Given the description of an element on the screen output the (x, y) to click on. 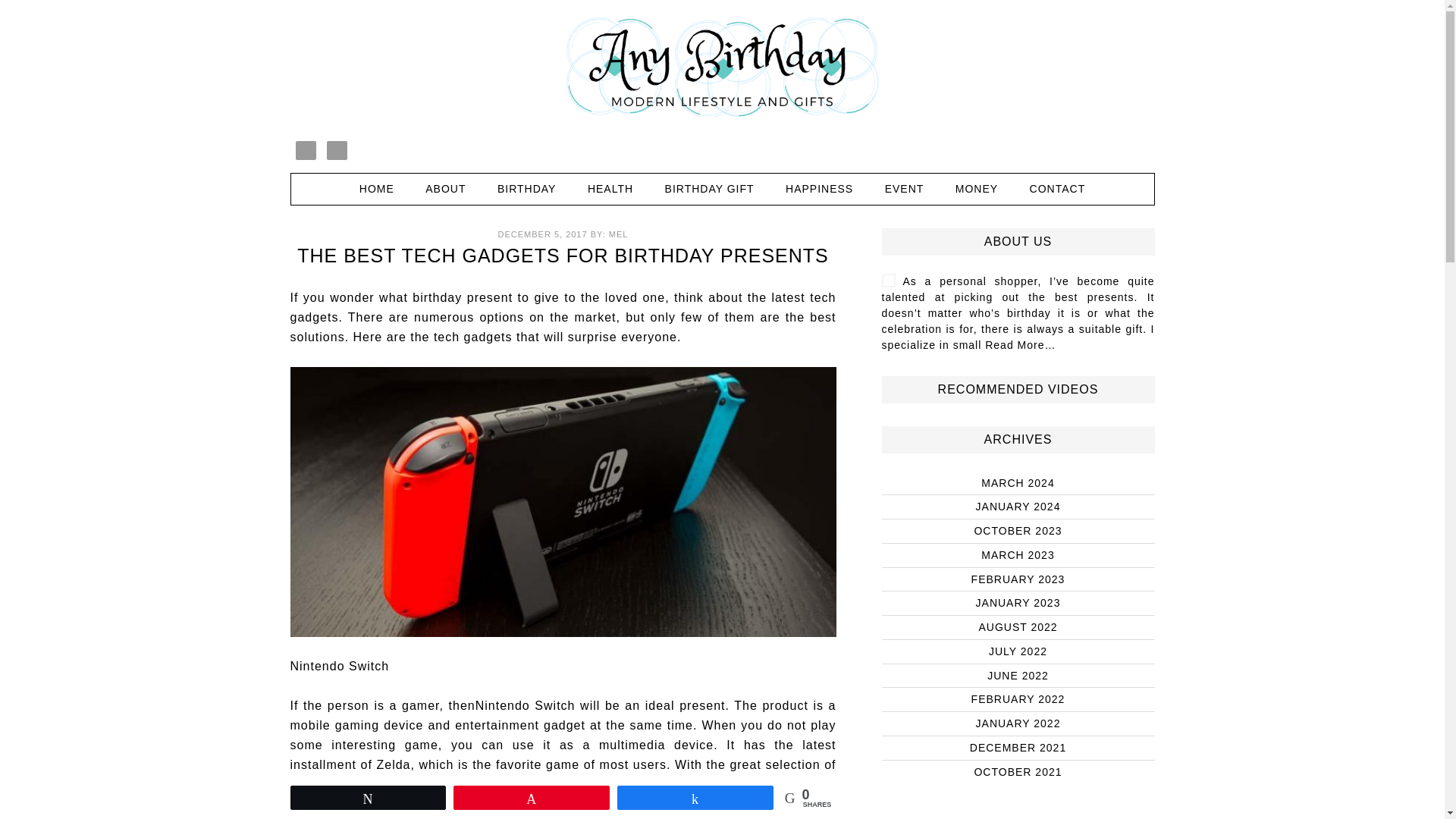
AUGUST 2022 (1017, 626)
MARCH 2024 (1017, 481)
MARCH 2023 (1017, 554)
JANUARY 2023 (1018, 603)
AUGUST 2021 (1017, 816)
FEBRUARY 2023 (1018, 579)
CONTACT (1057, 187)
ANY BIRTHDAY (722, 66)
SEPTEMBER 2021 (1017, 795)
EVENT (903, 187)
